Given the description of an element on the screen output the (x, y) to click on. 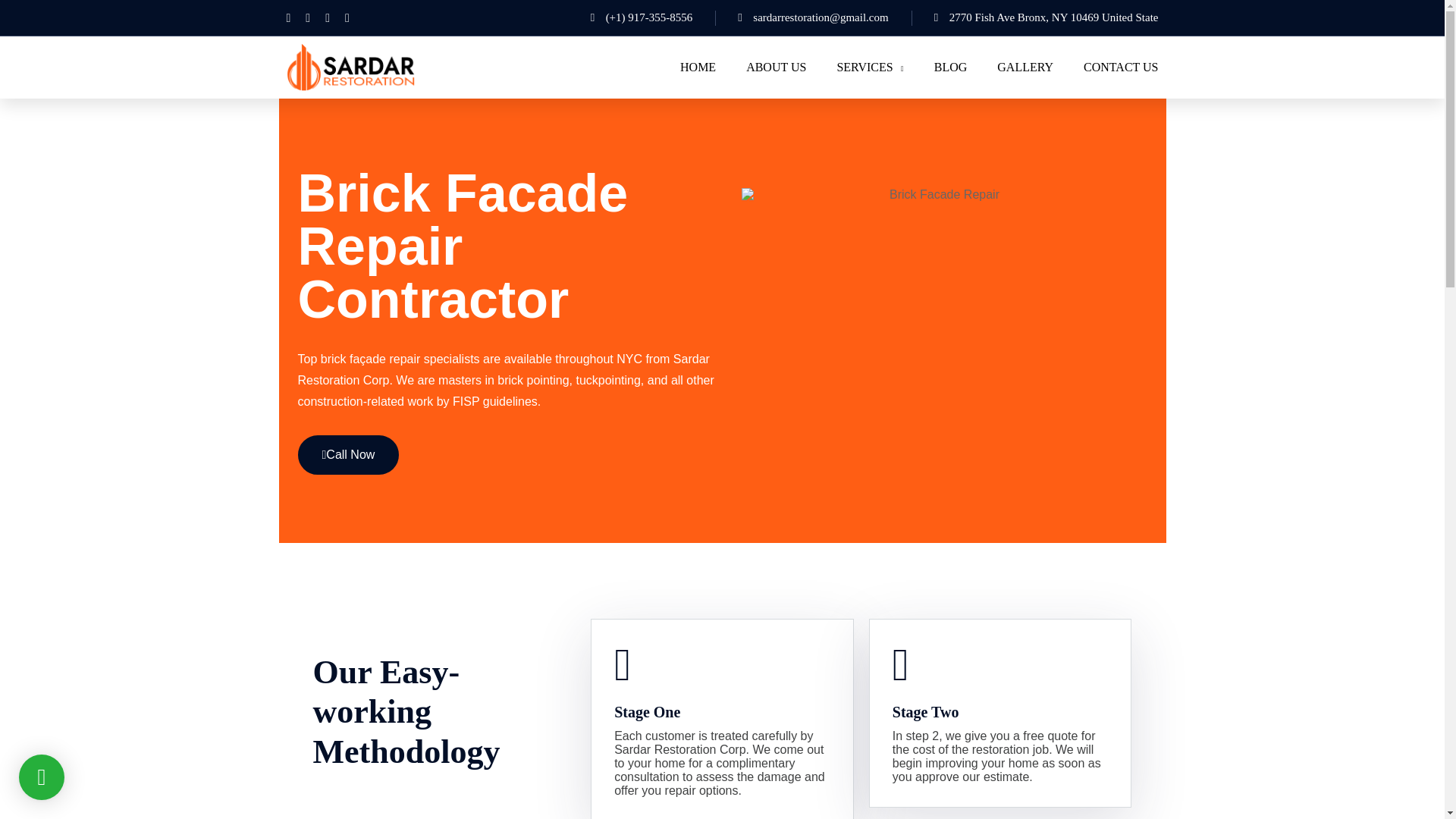
SERVICES (868, 67)
2770 Fish Ave Bronx, NY 10469 United State (1023, 17)
GALLERY (1024, 67)
Call Now (347, 454)
HOME (697, 67)
ABOUT US (775, 67)
BLOG (951, 67)
Sardar Restoration Corp (350, 65)
CONTACT US (1120, 67)
